Given the description of an element on the screen output the (x, y) to click on. 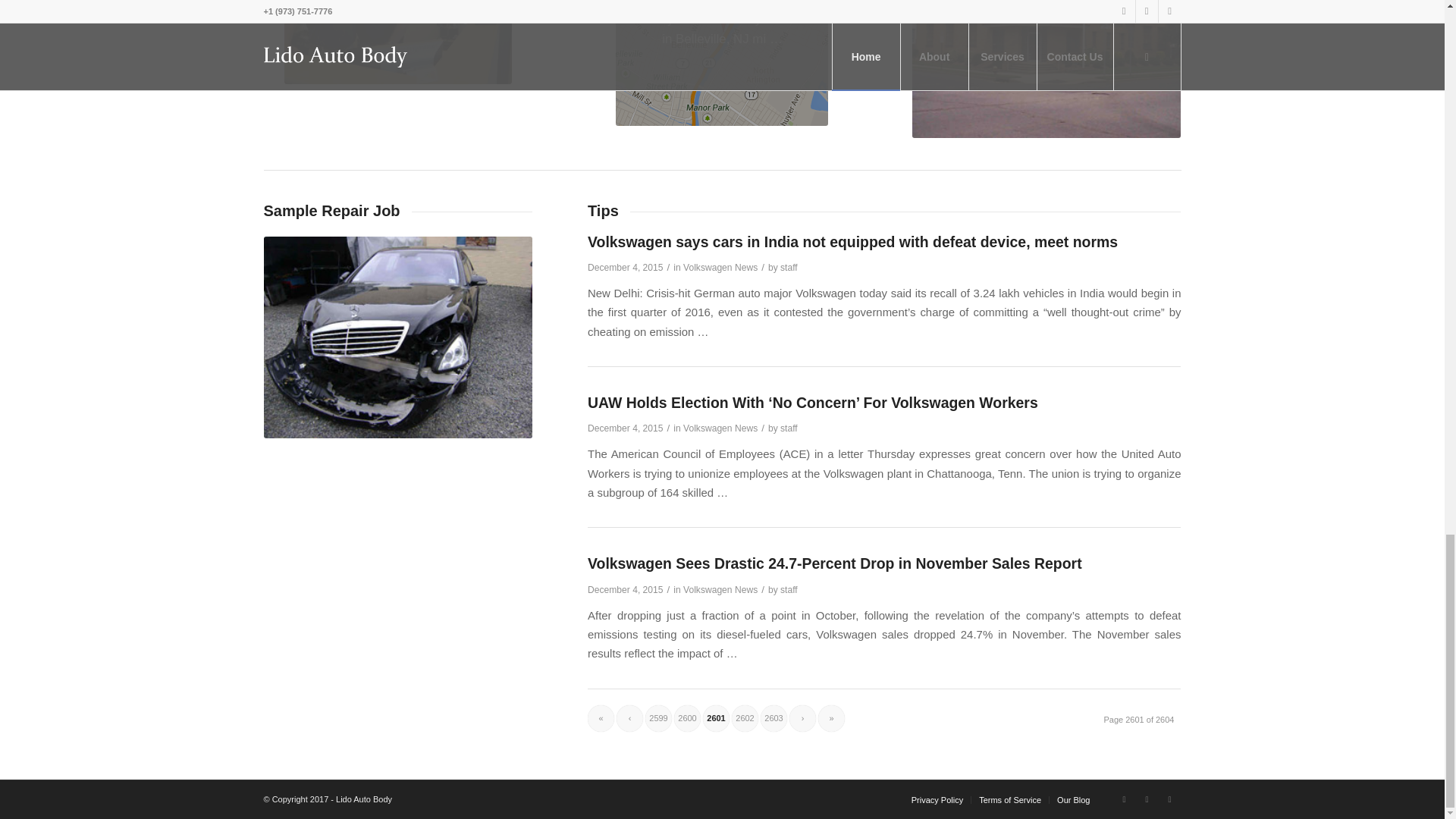
01 (1046, 69)
Screen Shot 2013-09-28 at 12.28.11 PM (721, 63)
